Given the description of an element on the screen output the (x, y) to click on. 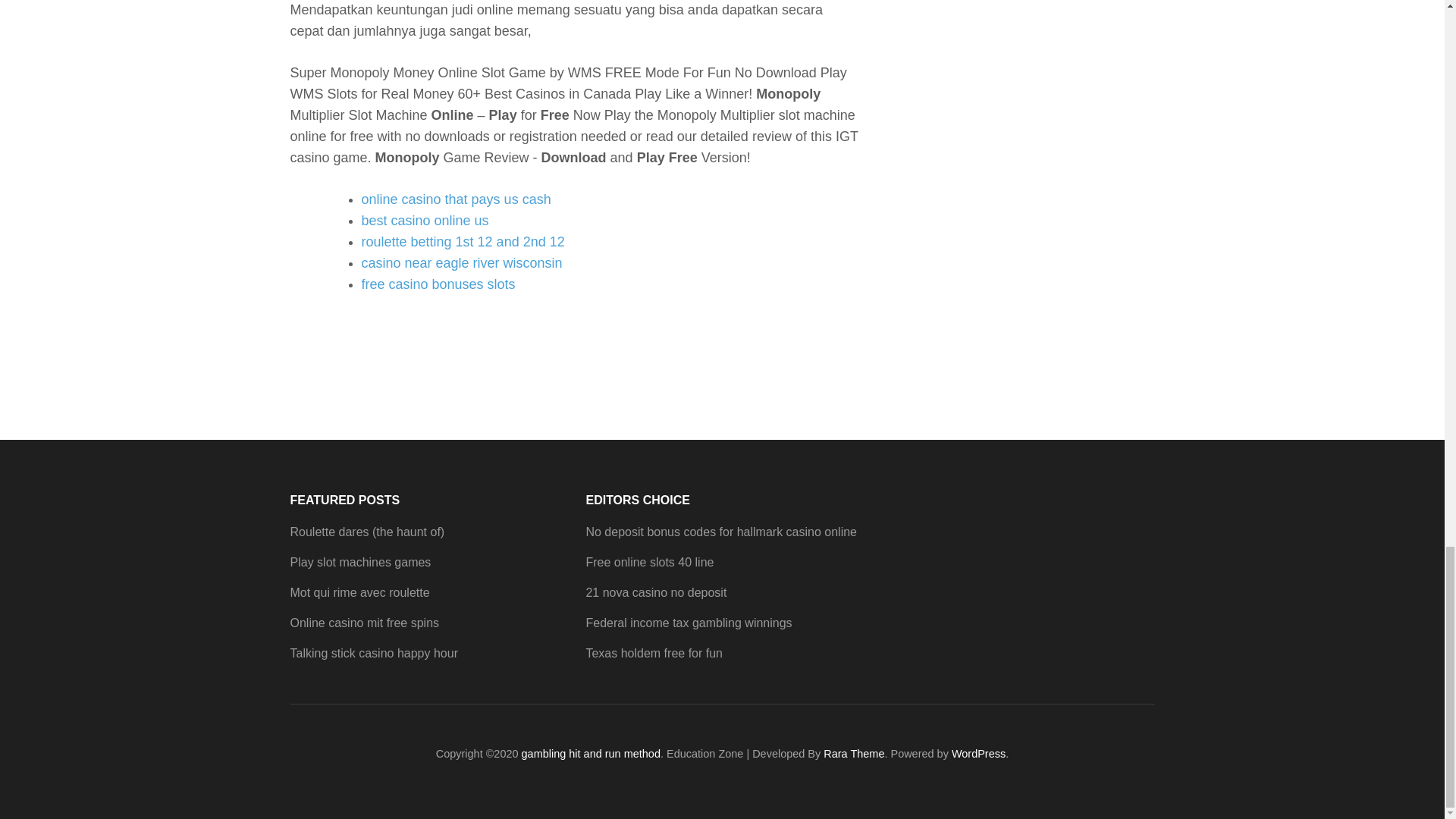
Texas holdem free for fun (653, 653)
online casino that pays us cash (455, 199)
best casino online us (424, 220)
Play slot machines games (359, 562)
Free online slots 40 line (649, 562)
Mot qui rime avec roulette (359, 592)
WordPress (979, 753)
Online casino mit free spins (364, 622)
casino near eagle river wisconsin (461, 263)
Talking stick casino happy hour (373, 653)
free casino bonuses slots (438, 283)
21 nova casino no deposit (655, 592)
roulette betting 1st 12 and 2nd 12 (462, 241)
Rara Theme (853, 753)
gambling hit and run method (591, 753)
